Given the description of an element on the screen output the (x, y) to click on. 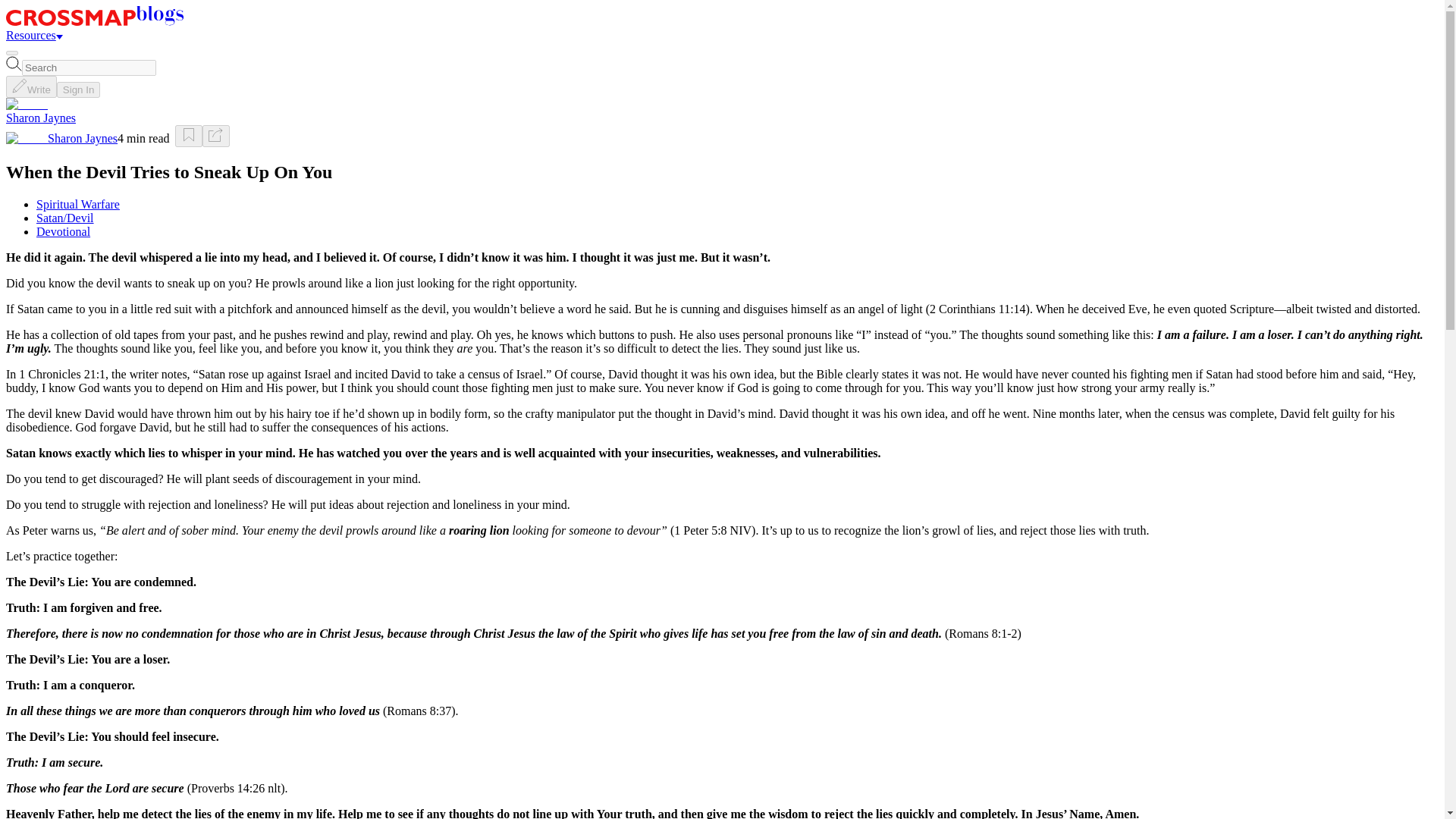
Resources (33, 34)
Sharon Jaynes (40, 117)
Devotional (63, 231)
Sign In (78, 89)
Write (30, 86)
Spiritual Warfare (77, 204)
Sharon Jaynes (82, 137)
